Given the description of an element on the screen output the (x, y) to click on. 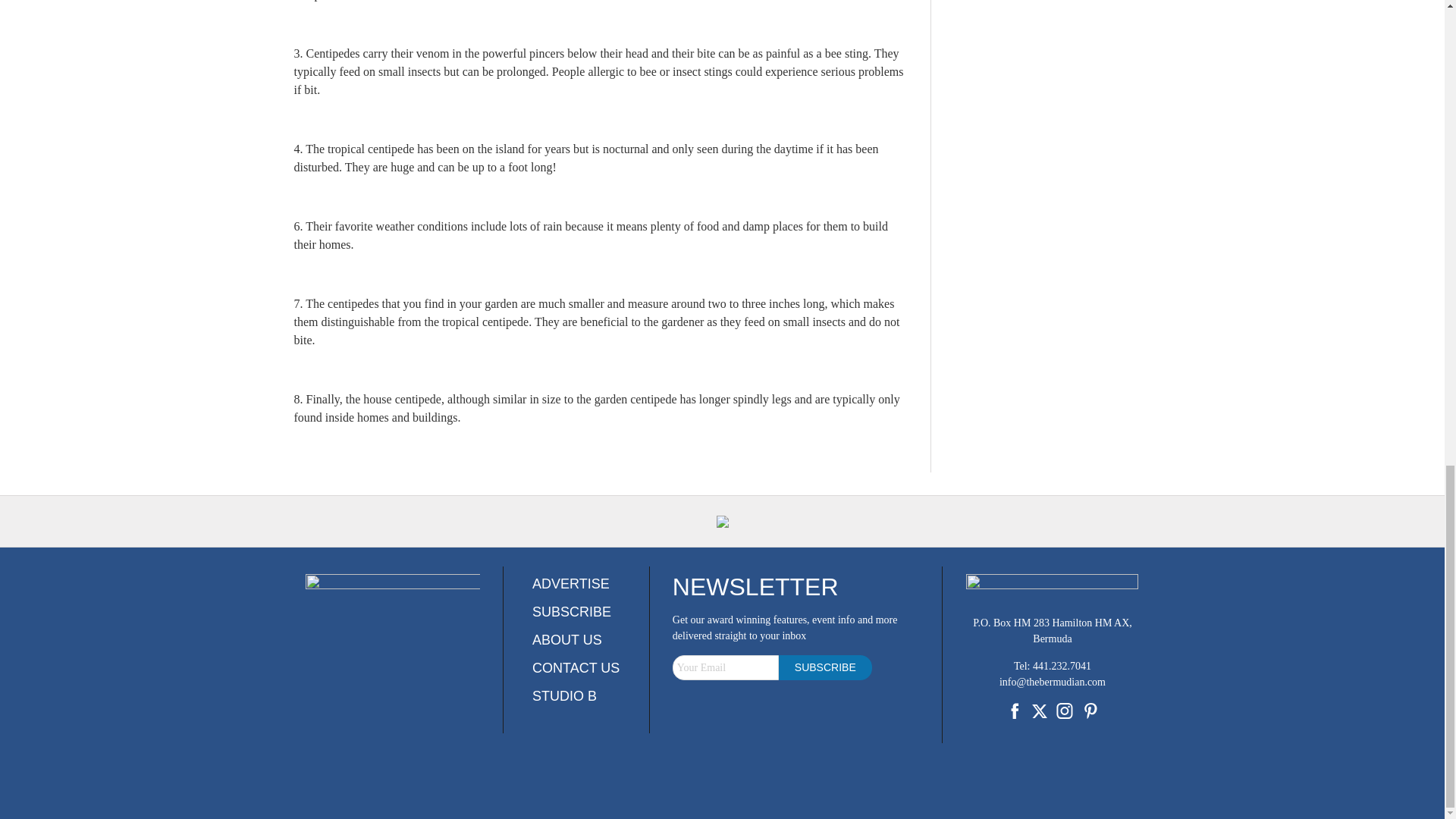
SUBSCRIBE (571, 611)
ADVERTISE (571, 583)
